Given the description of an element on the screen output the (x, y) to click on. 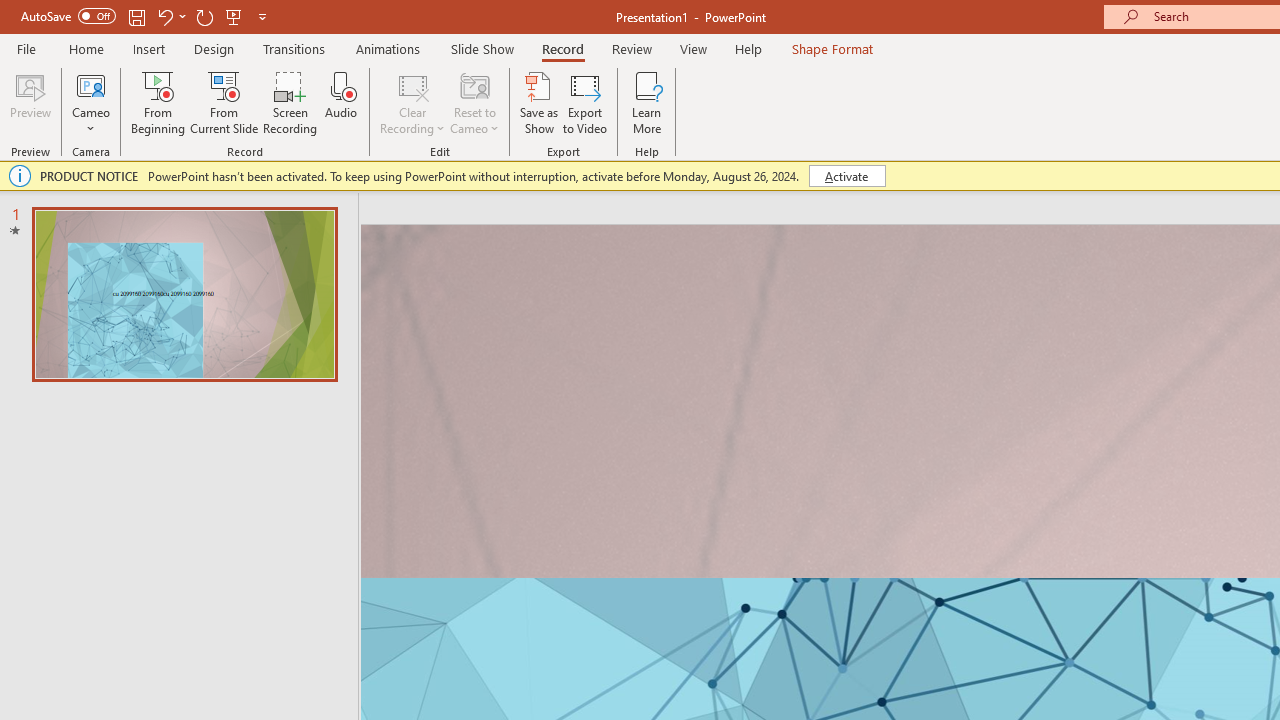
Activate (846, 175)
